Given the description of an element on the screen output the (x, y) to click on. 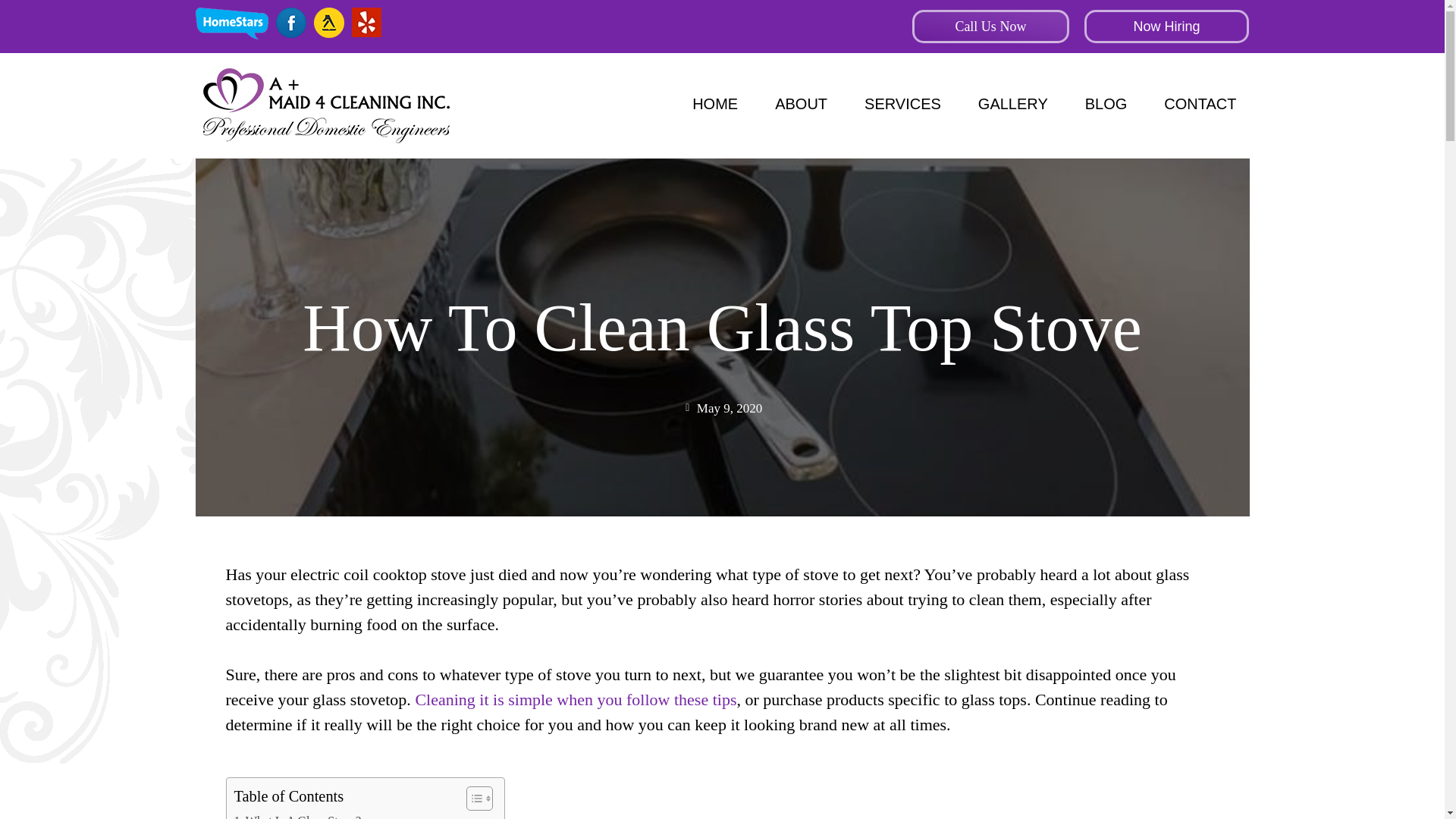
Call Us Now (990, 26)
CONTACT (1199, 103)
BLOG (1106, 103)
SERVICES (902, 103)
ABOUT (296, 815)
GALLERY (801, 103)
HOME (1012, 103)
Now Hiring (714, 103)
